Given the description of an element on the screen output the (x, y) to click on. 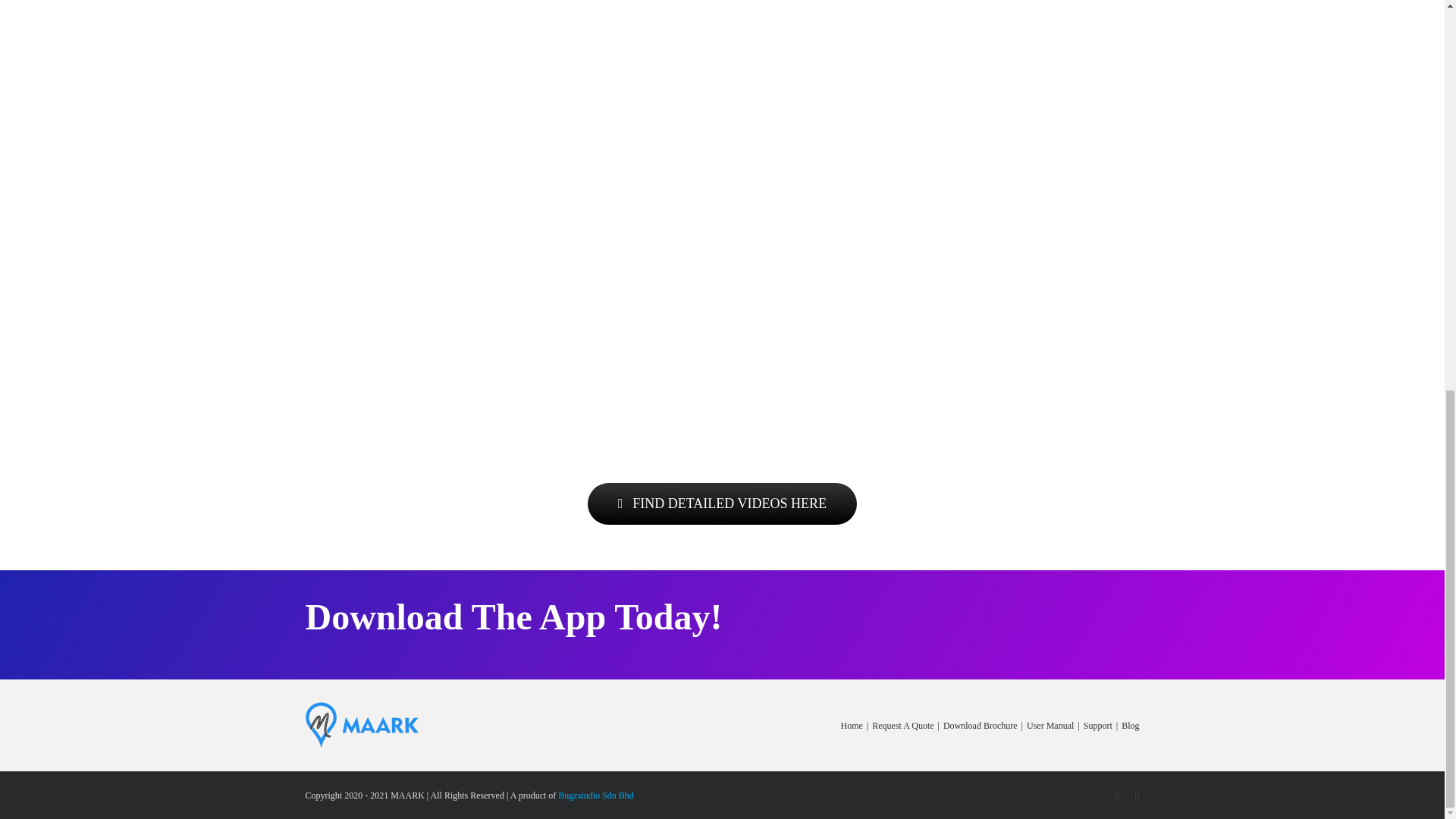
Find Detailed Videos Here (722, 503)
FIND DETAILED VIDEOS HERE (722, 503)
